Given the description of an element on the screen output the (x, y) to click on. 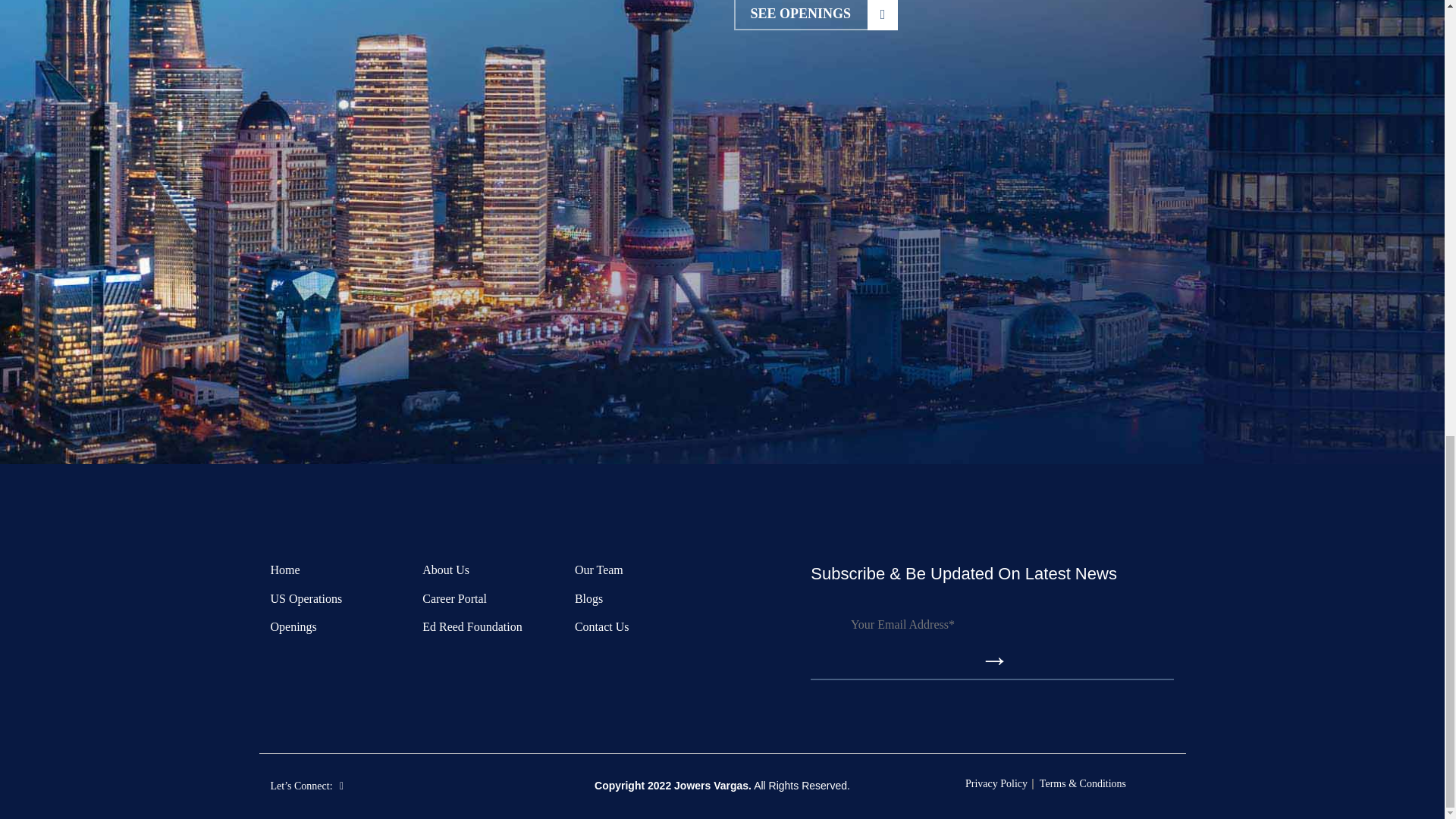
Career Portal (815, 15)
